Given the description of an element on the screen output the (x, y) to click on. 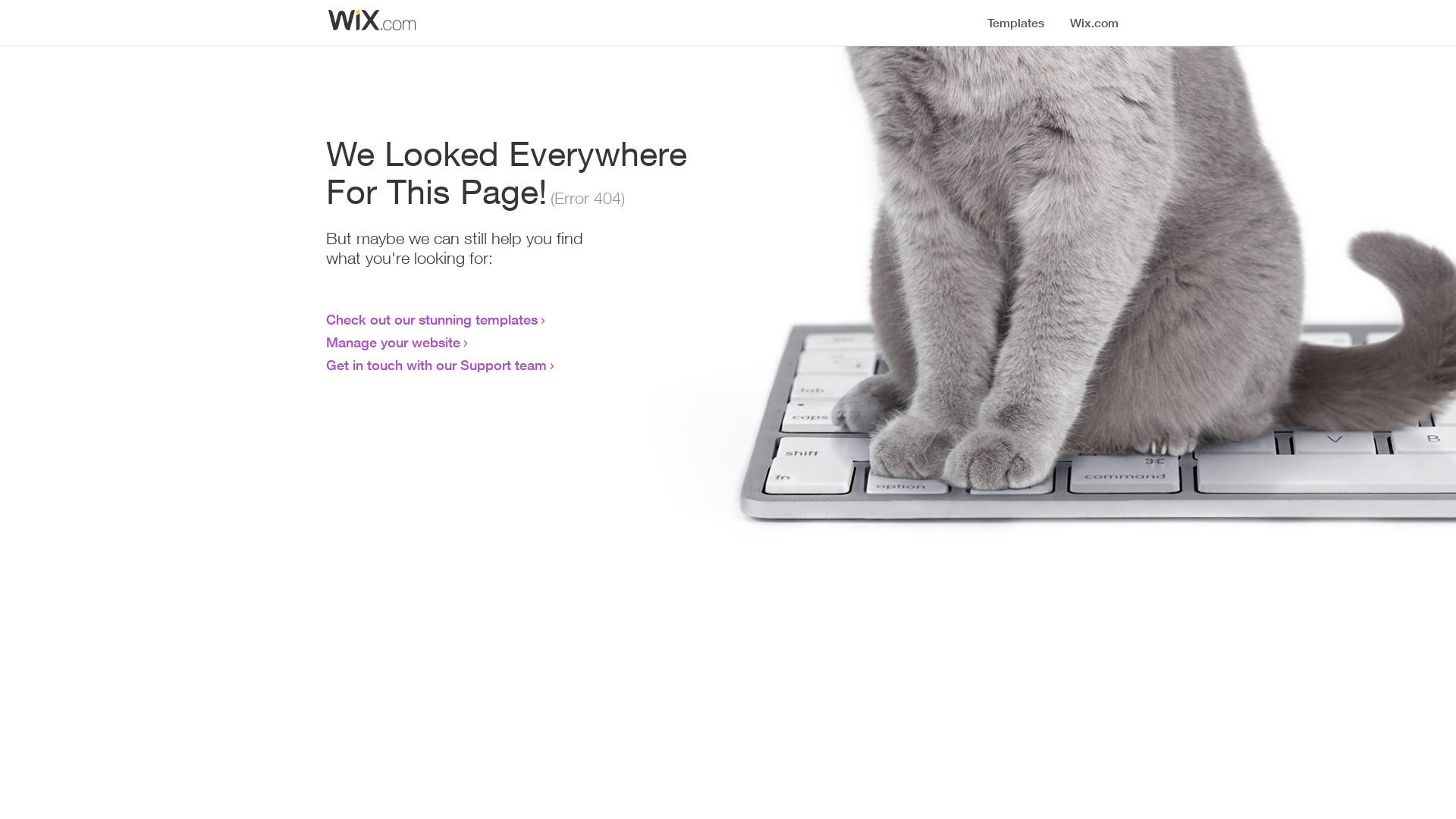
Manage your website Element type: text (393, 341)
Get in touch with our Support team Element type: text (436, 364)
Check out our stunning templates Element type: text (431, 318)
